Given the description of an element on the screen output the (x, y) to click on. 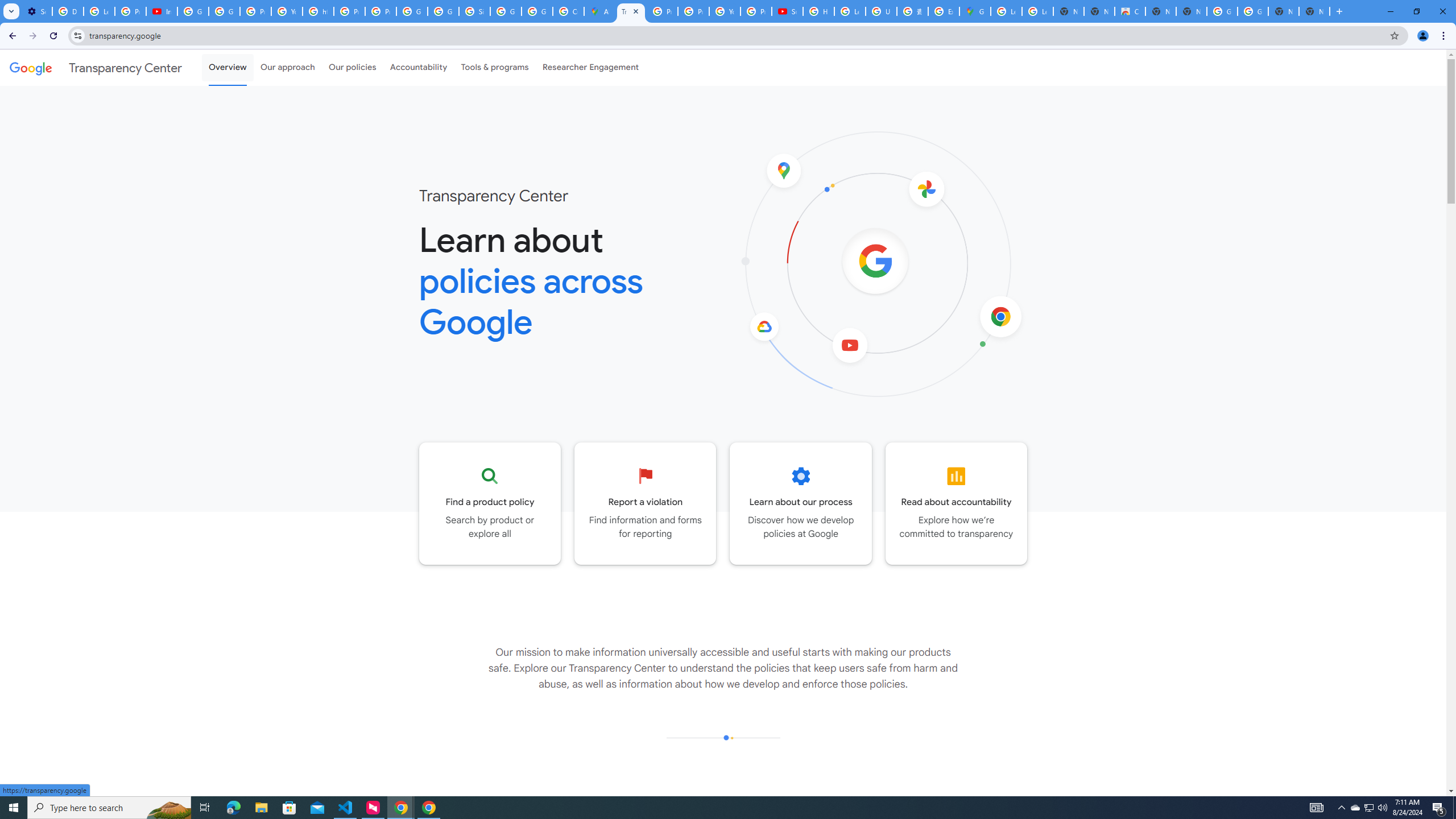
Our policies (351, 67)
YouTube (724, 11)
Researcher Engagement (590, 67)
Google Account Help (192, 11)
Chrome Web Store (1129, 11)
Google Images (1252, 11)
